Given the description of an element on the screen output the (x, y) to click on. 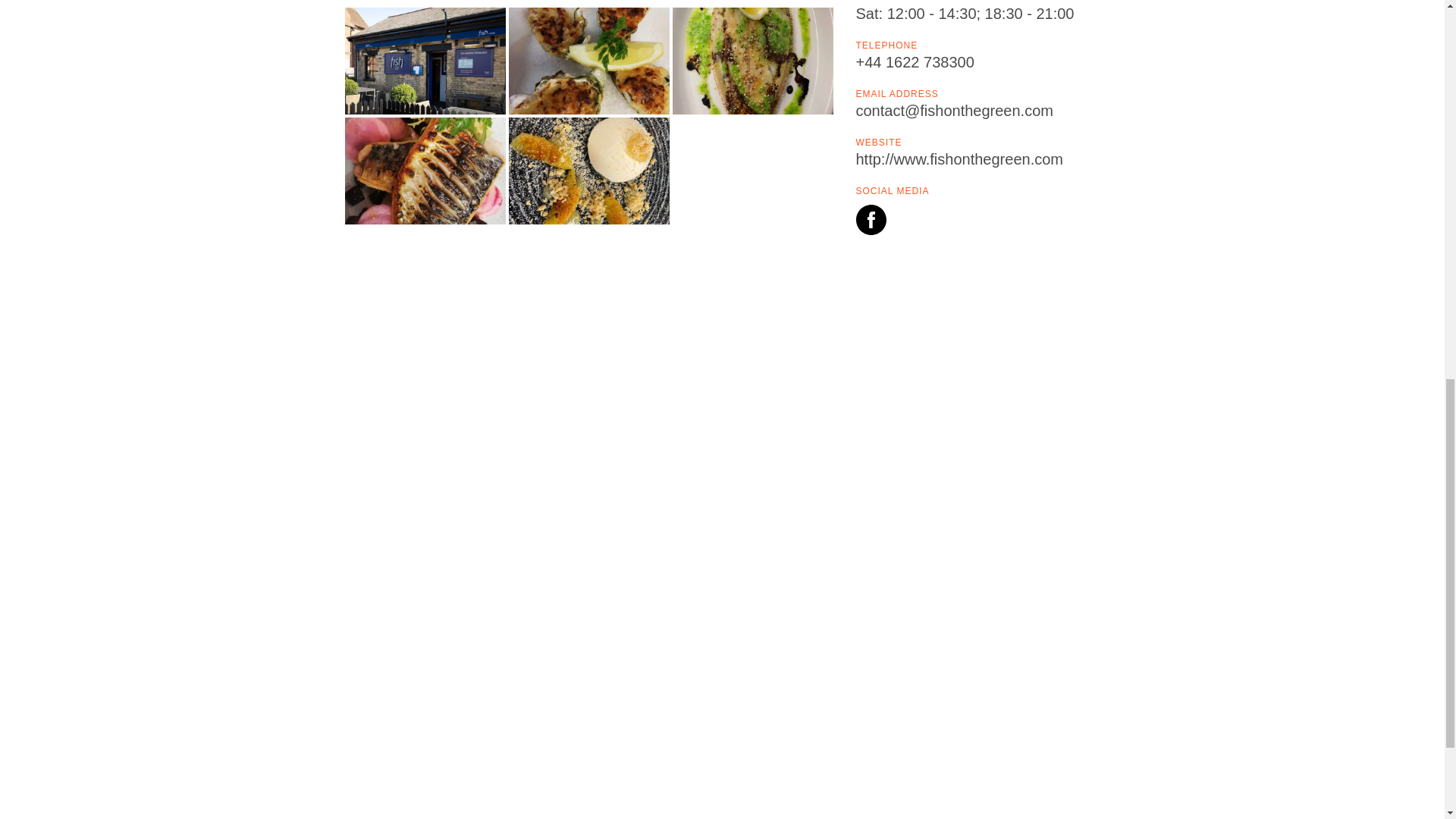
Follow Fish on the Green - Bearsted on Facebook (870, 222)
